Given the description of an element on the screen output the (x, y) to click on. 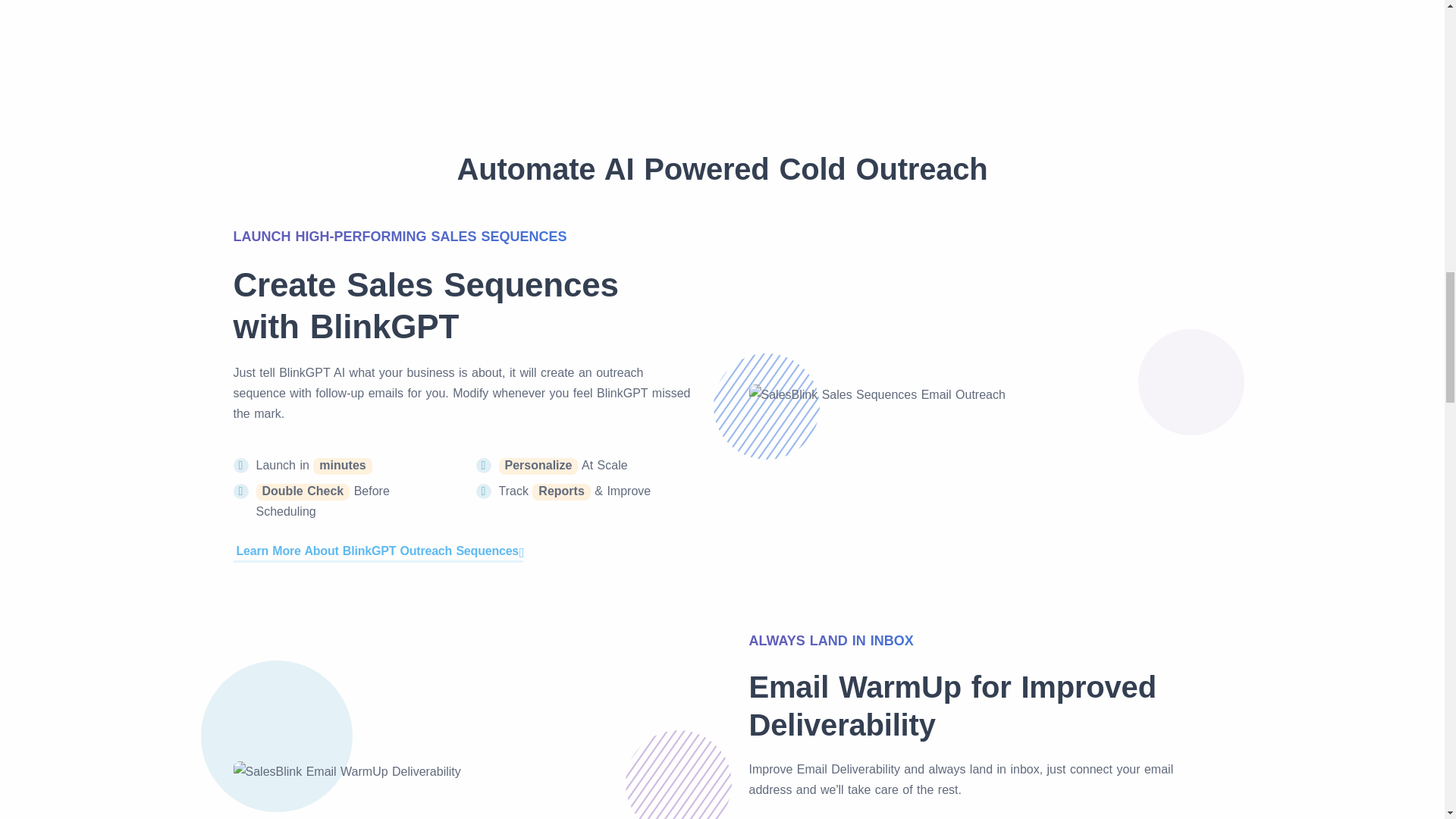
SalesBlink Email WarmUp Deliverability (346, 771)
SalesBlink Sales Sequences Email Outreach (877, 394)
Learn More About BlinkGPT Outreach Sequences (378, 550)
